Given the description of an element on the screen output the (x, y) to click on. 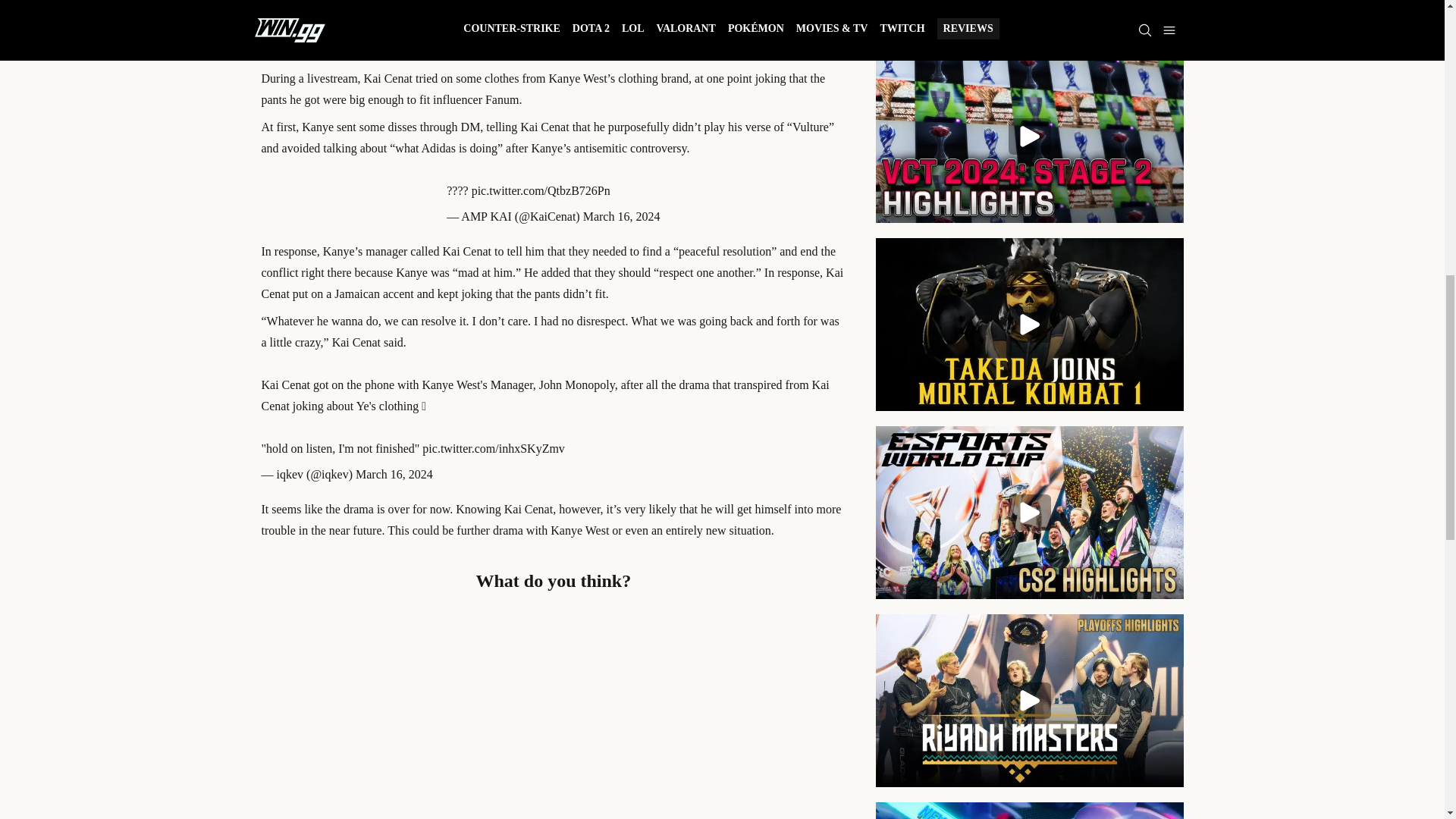
March 16, 2024 (393, 473)
March 16, 2024 (622, 215)
